Given the description of an element on the screen output the (x, y) to click on. 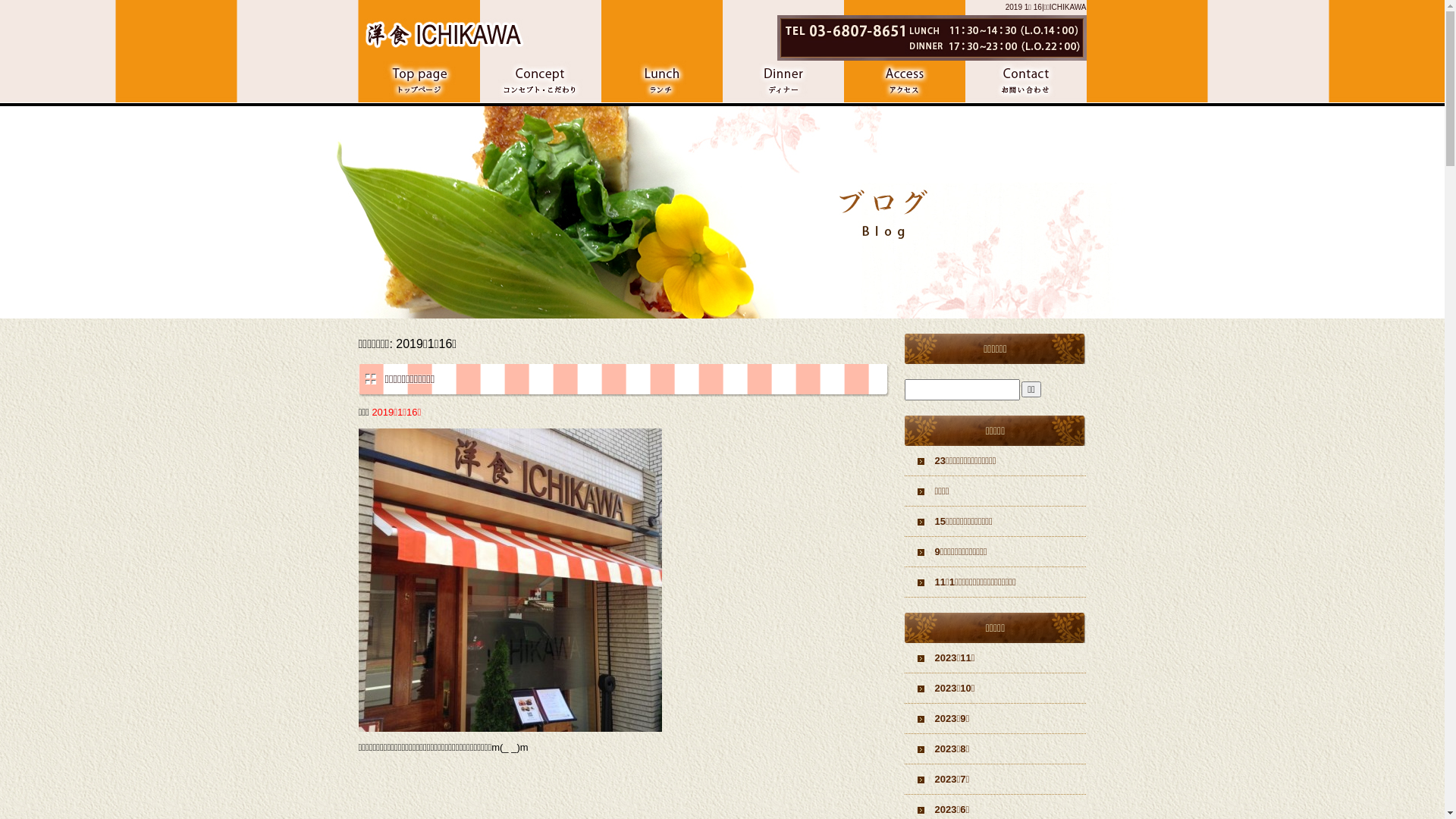
IMG_1822 Element type: hover (509, 722)
